Given the description of an element on the screen output the (x, y) to click on. 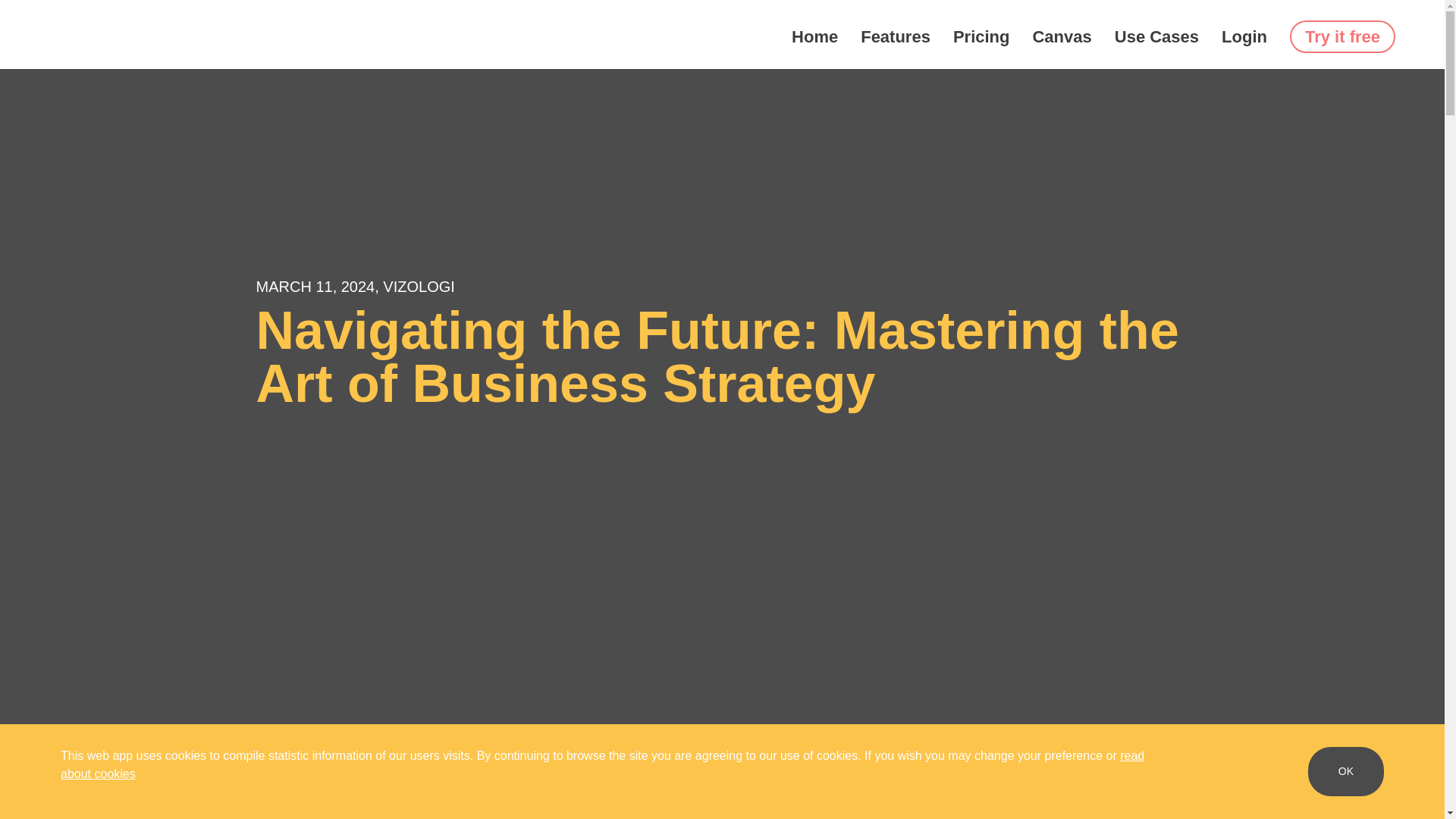
Features (895, 36)
Use Cases (1156, 36)
Try it free (1342, 36)
read about cookies (602, 764)
Pricing (981, 36)
Home (815, 36)
Login (1243, 36)
Business Strategy (86, 772)
Canvas (1061, 36)
OK (1345, 771)
